Given the description of an element on the screen output the (x, y) to click on. 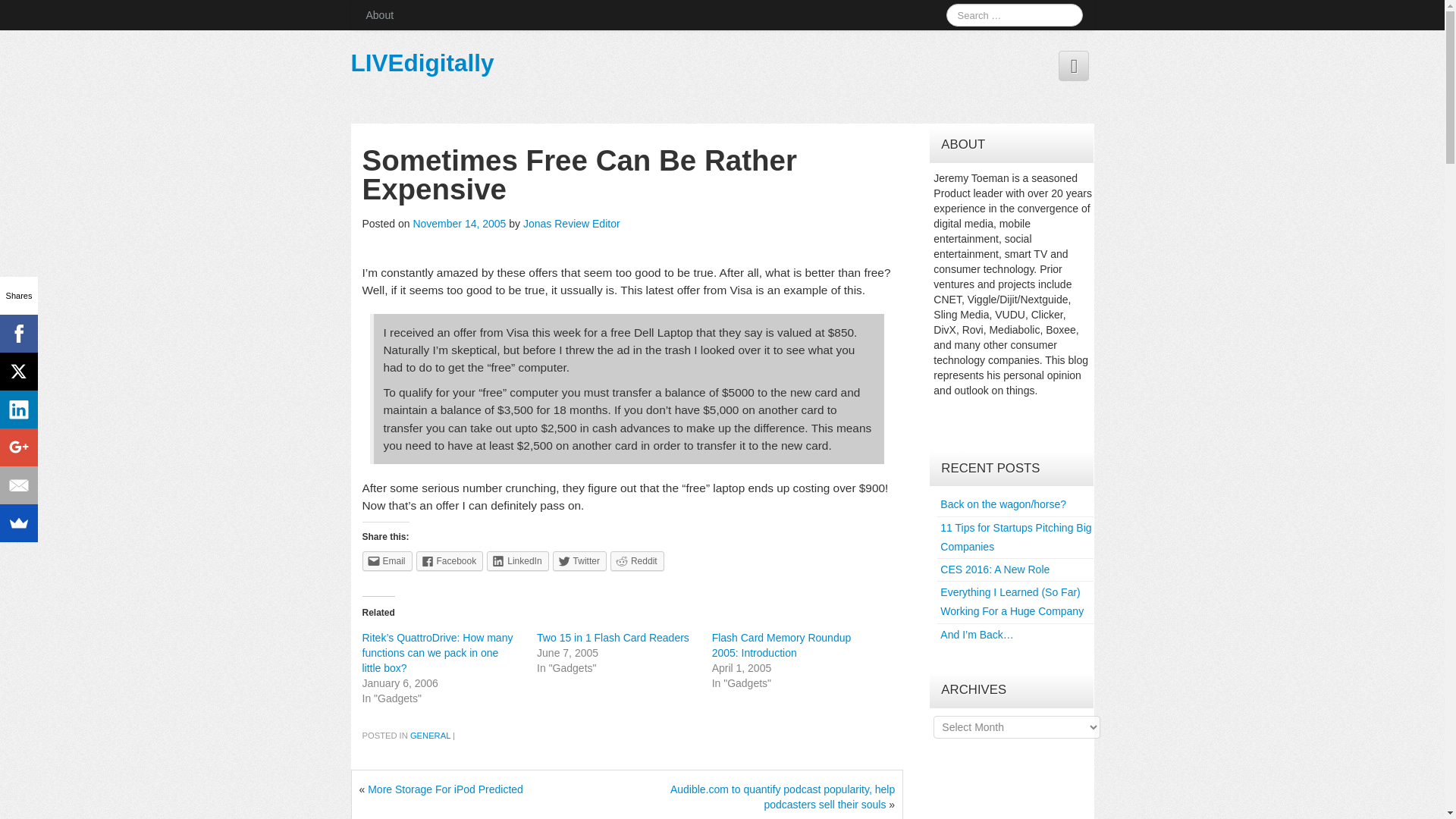
Click to share on LinkedIn (517, 560)
Click to share on Facebook (449, 560)
Jonas Review Editor (571, 223)
About (379, 15)
Twitter (580, 560)
Two 15 in 1 Flash Card Readers (612, 636)
View all posts by Jonas Review Editor (571, 223)
Facebook (449, 560)
Click to email this to a friend (387, 560)
11 Tips for Startups Pitching Big Companies (1015, 536)
LIVEdigitally (421, 62)
November 14, 2005 (460, 223)
CES 2016: A New Role (994, 569)
Reddit (636, 560)
